Given the description of an element on the screen output the (x, y) to click on. 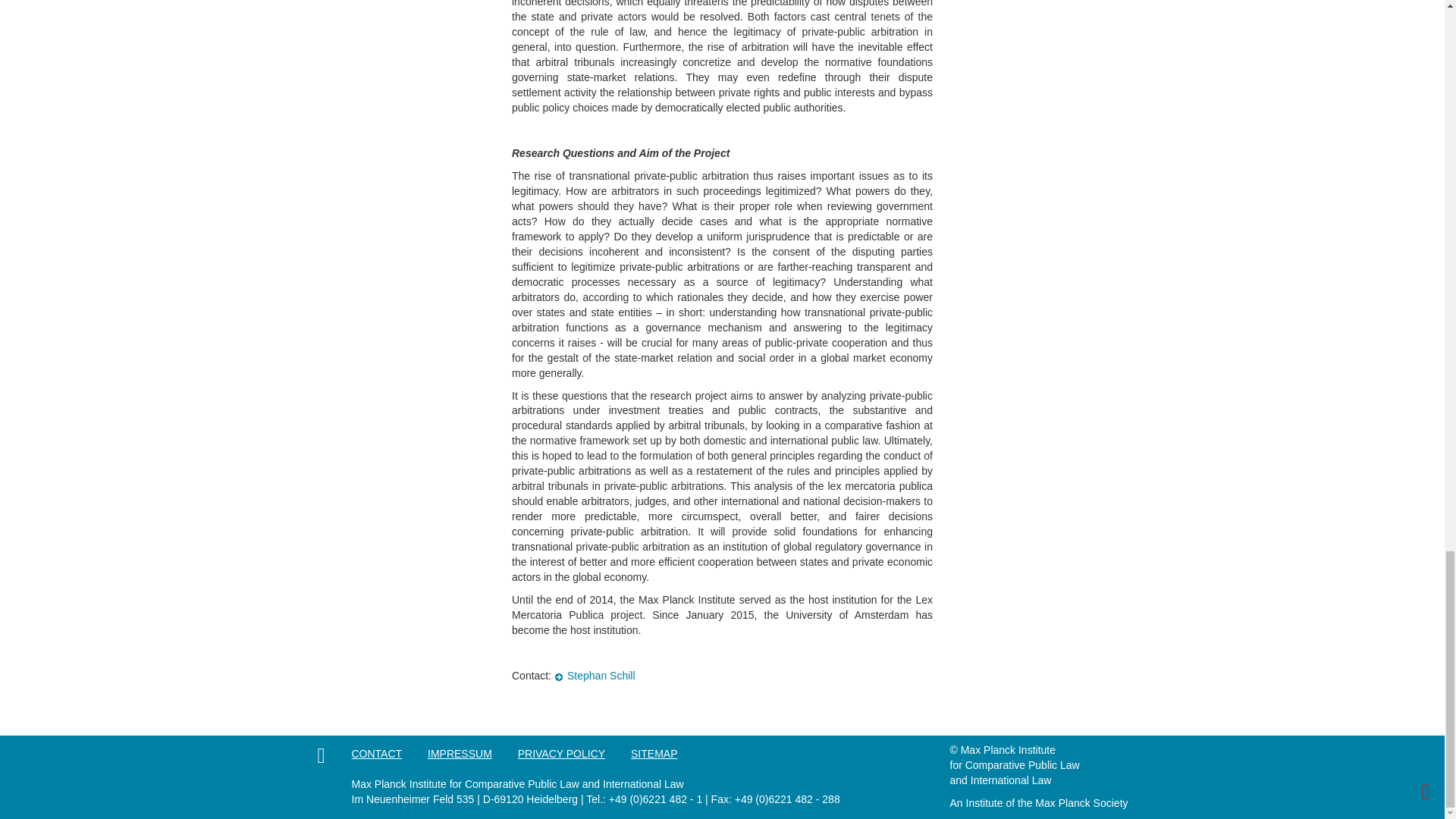
Max Planck Society (1080, 802)
Stephan Schill (594, 675)
CONTACT (388, 753)
PRIVACY POLICY (572, 753)
IMPRESSUM (471, 753)
SITEMAP (665, 753)
